Given the description of an element on the screen output the (x, y) to click on. 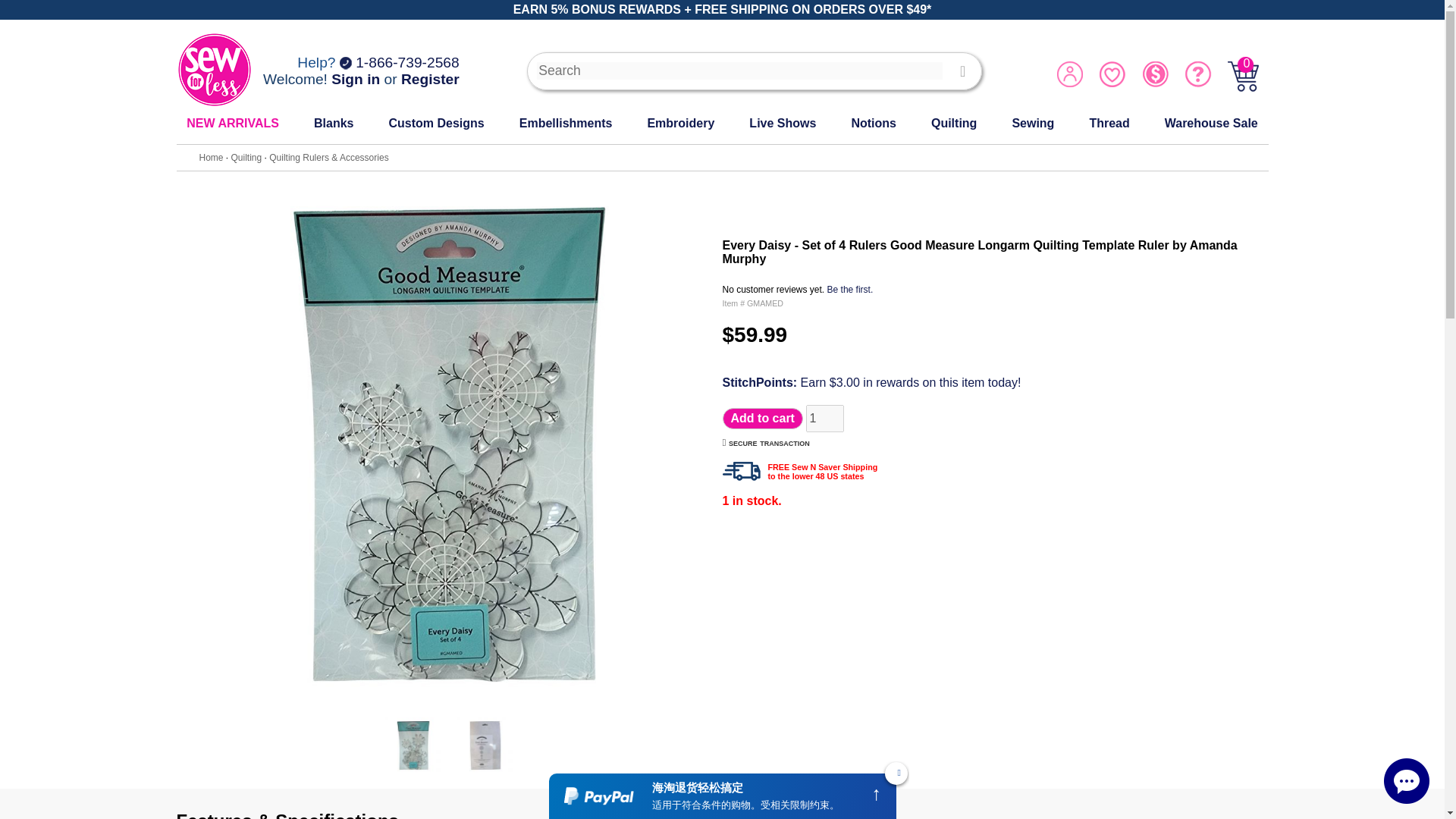
This item qualifies for FREE Sew 'N Saver Shipping! (741, 470)
Add to cart (762, 418)
Sign in (355, 78)
1-866-739-2568 (399, 62)
0 (1243, 88)
Live chat online (1406, 780)
Register (430, 78)
Blanks (334, 123)
NEW ARRIVALS (232, 123)
1 (825, 418)
